Given the description of an element on the screen output the (x, y) to click on. 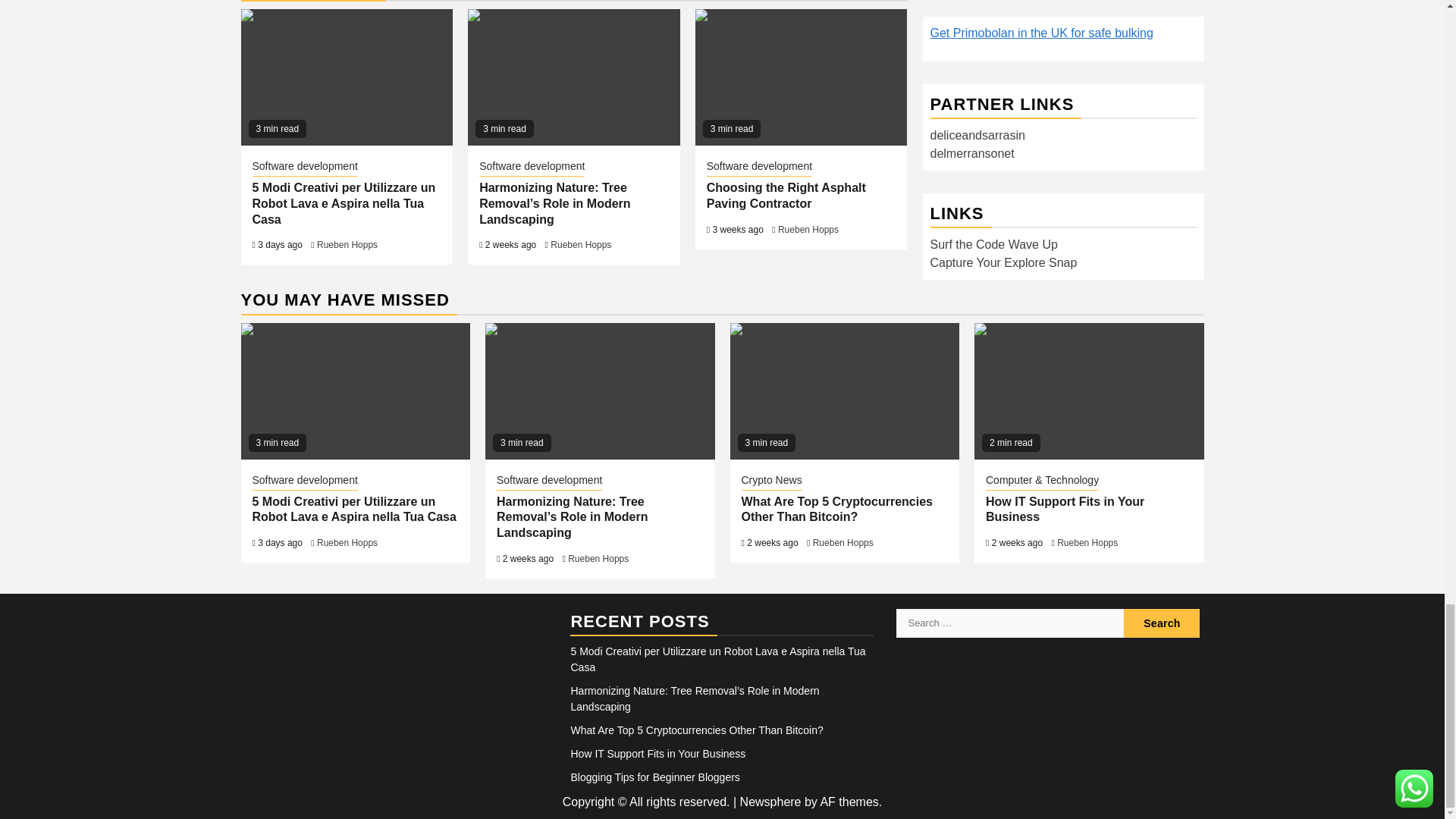
Choosing the Right Asphalt Paving Contractor (801, 77)
Search (1161, 623)
Search (1161, 623)
